Given the description of an element on the screen output the (x, y) to click on. 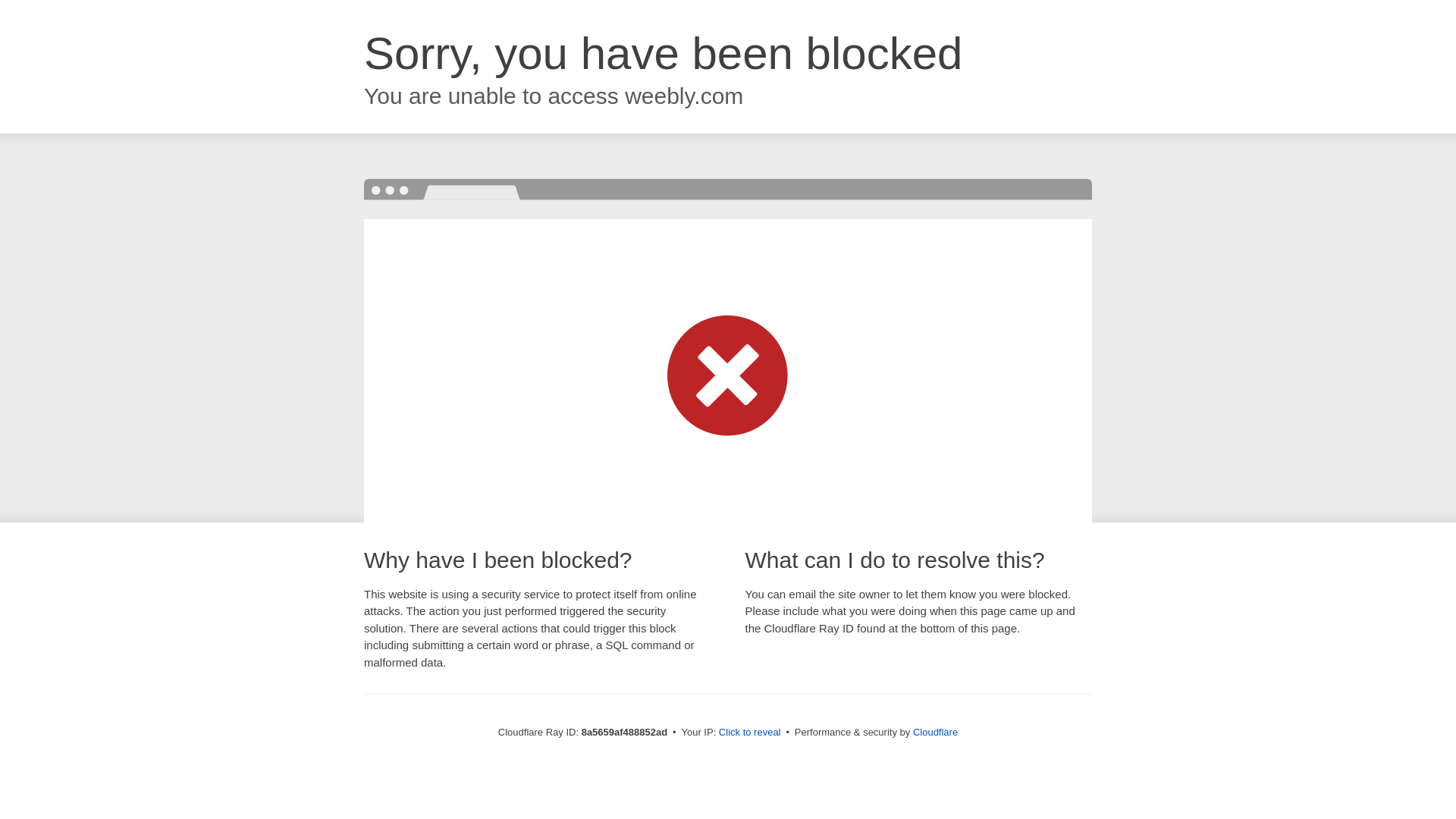
Cloudflare (935, 731)
Click to reveal (749, 732)
